Given the description of an element on the screen output the (x, y) to click on. 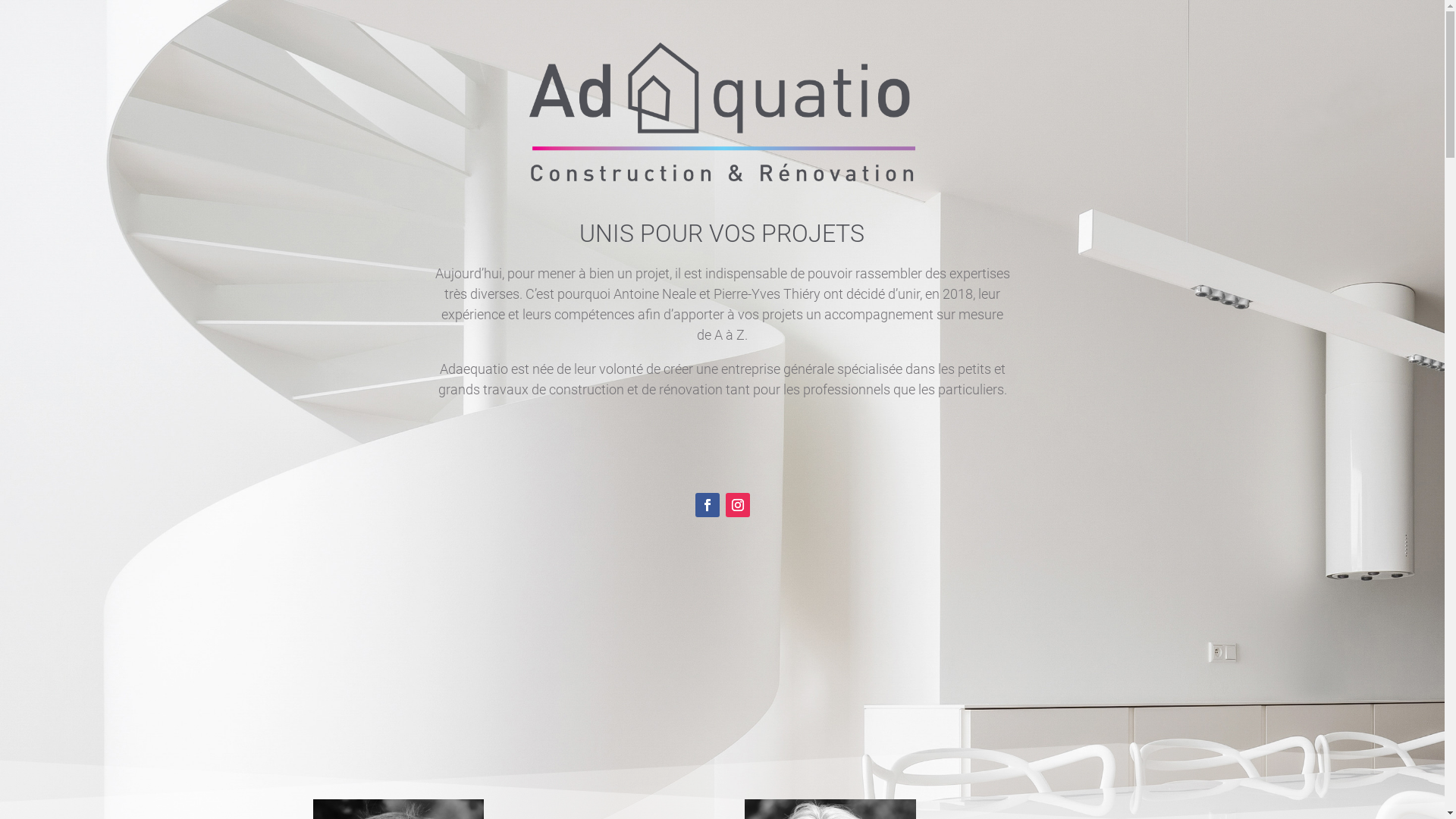
Follow on Instagram Element type: hover (736, 504)
Follow on Facebook Element type: hover (706, 504)
